Given the description of an element on the screen output the (x, y) to click on. 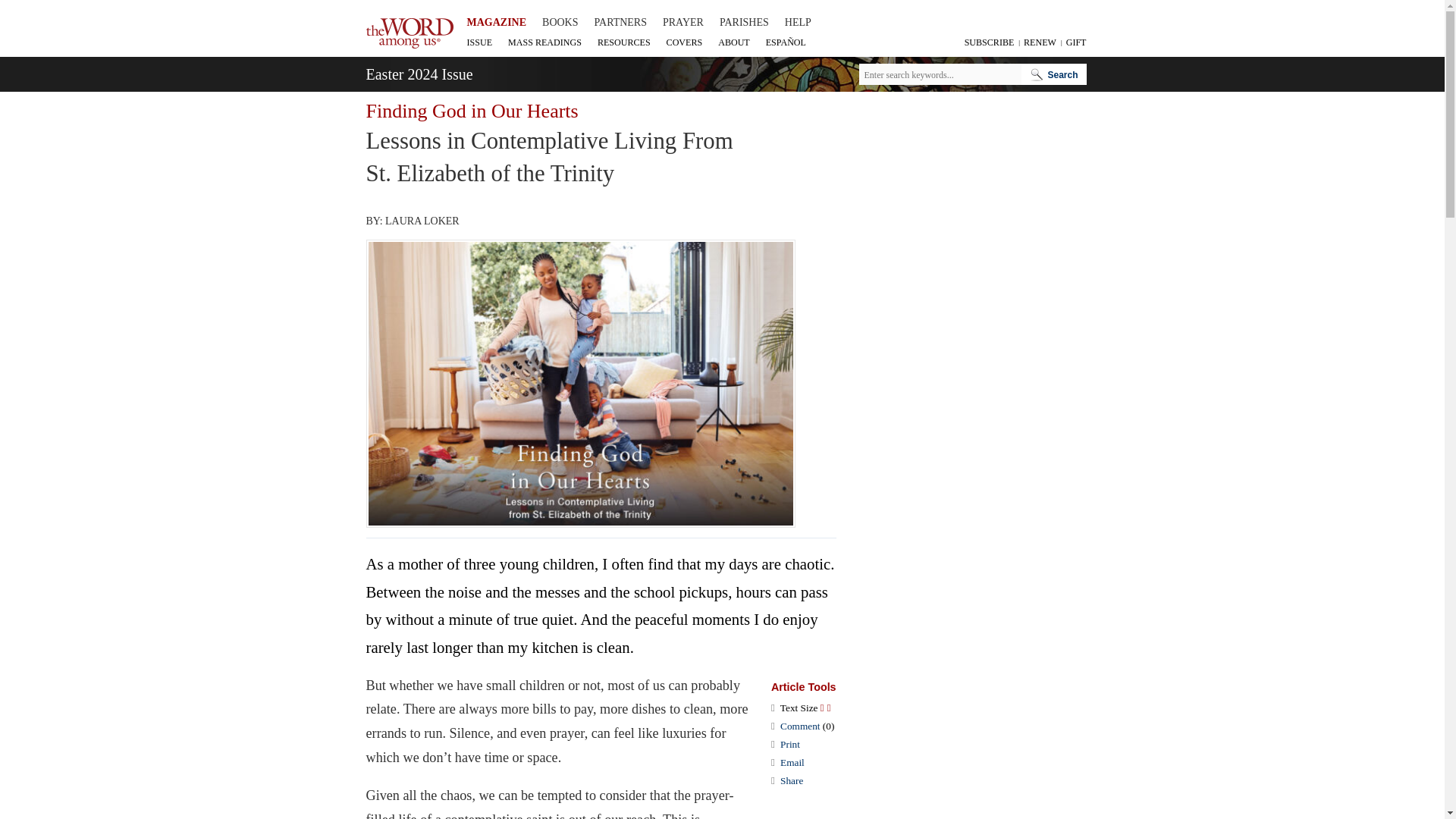
The Word Among Us (408, 33)
PARTNERS (619, 22)
ABOUT (733, 42)
GIFT (1074, 42)
ISSUE (480, 42)
RENEW (1038, 42)
Search (1053, 74)
BOOKS (559, 22)
PARISHES (743, 22)
Email (792, 762)
